Given the description of an element on the screen output the (x, y) to click on. 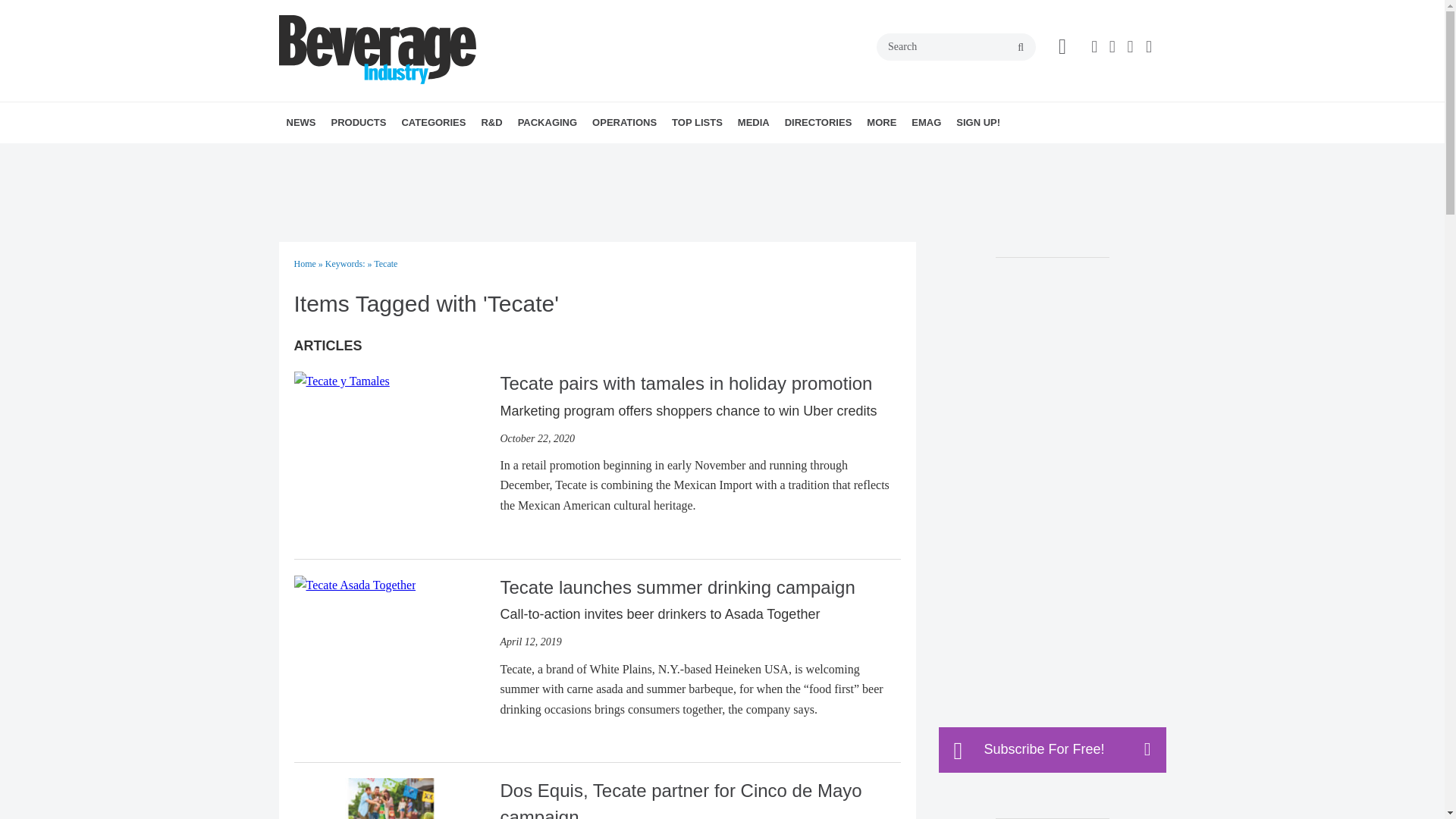
PRODUCTS (358, 122)
READER'S CHOICE POLL (424, 155)
NEW PRODUCTS (417, 155)
Tecate launches summer drinking campaign (355, 584)
SPORTS DRINKS (525, 155)
TEA AND COFFEE (528, 155)
CANNABIS BEVERAGES (507, 155)
search (1020, 47)
Tecate pairs with tamales in holiday promotion (342, 379)
ALTERNATIVE DRINKS (488, 155)
